Given the description of an element on the screen output the (x, y) to click on. 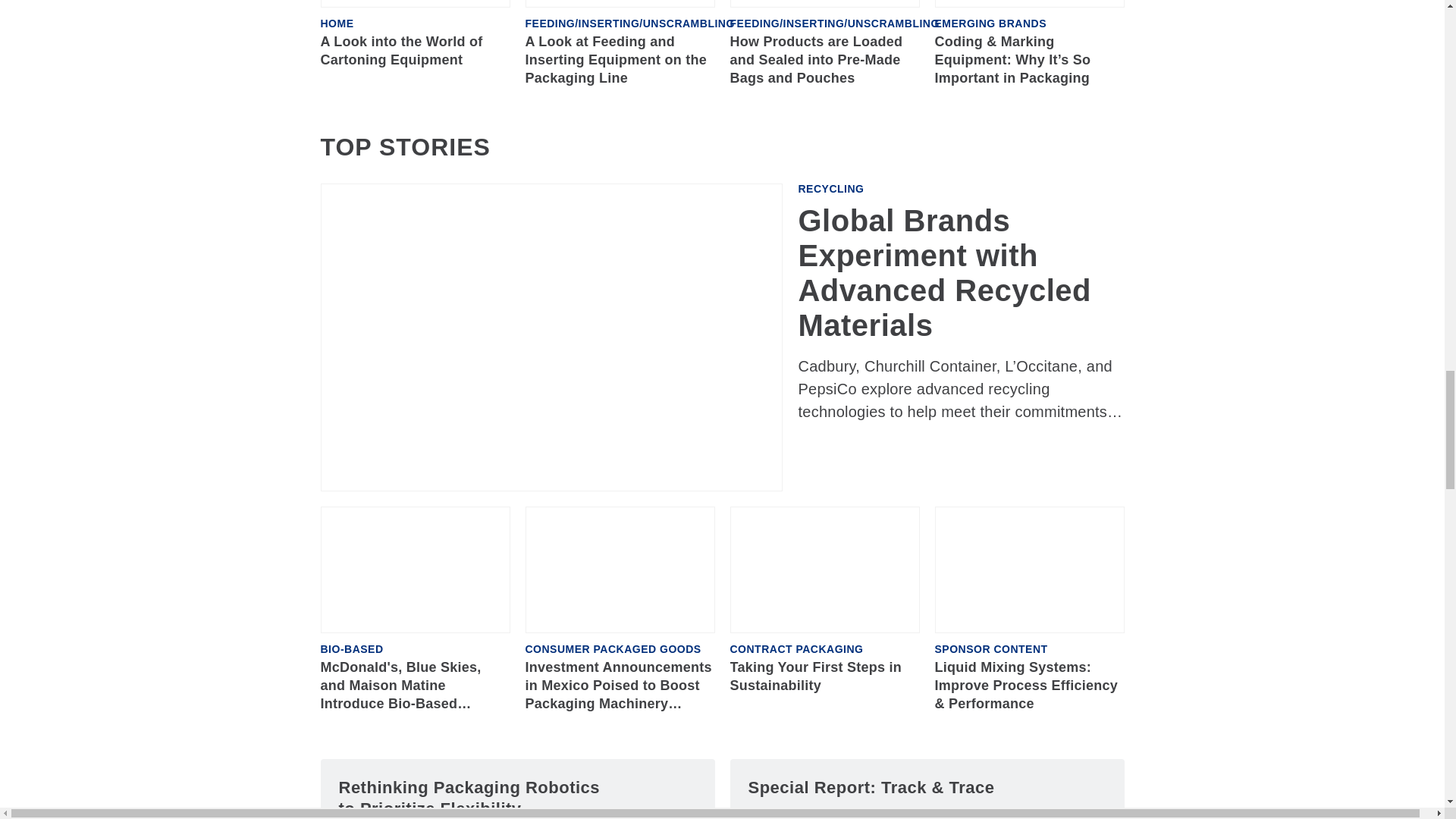
Emerging Brands (990, 23)
Home (336, 23)
